Given the description of an element on the screen output the (x, y) to click on. 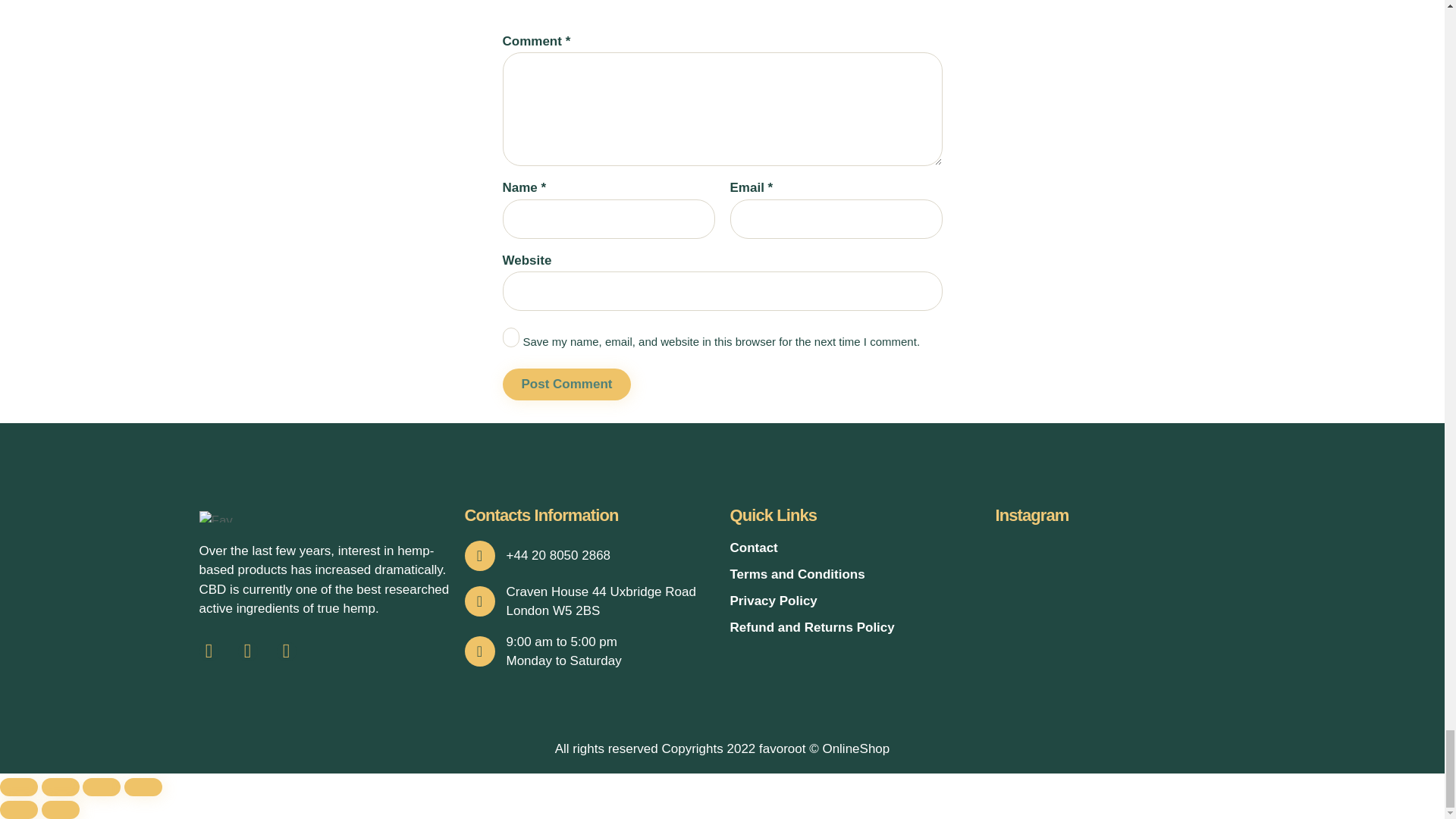
Terms and Conditions (854, 574)
Post Comment (566, 384)
Privacy Policy (854, 601)
Post Comment (566, 384)
Refund and Returns Policy (854, 627)
Contact (854, 548)
